Given the description of an element on the screen output the (x, y) to click on. 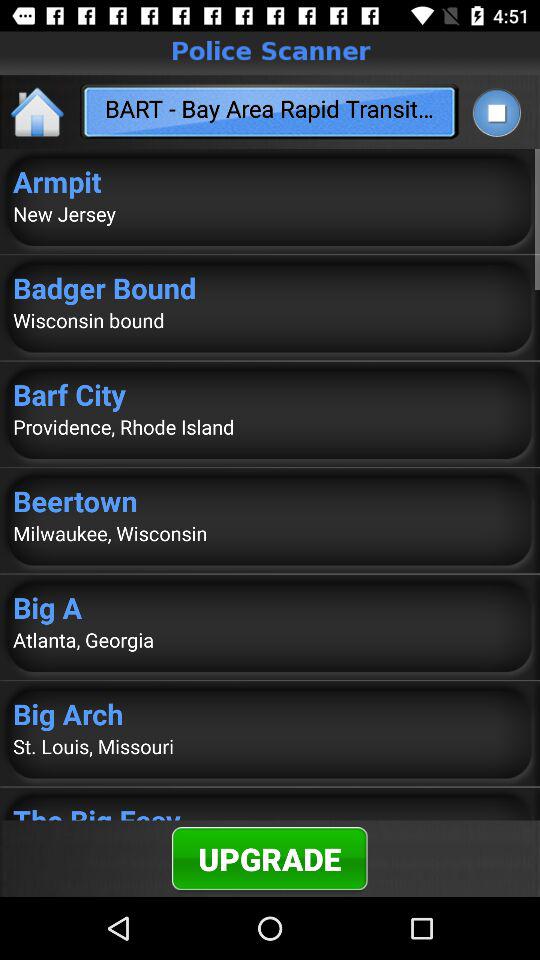
choose the icon at the top right corner (496, 111)
